Given the description of an element on the screen output the (x, y) to click on. 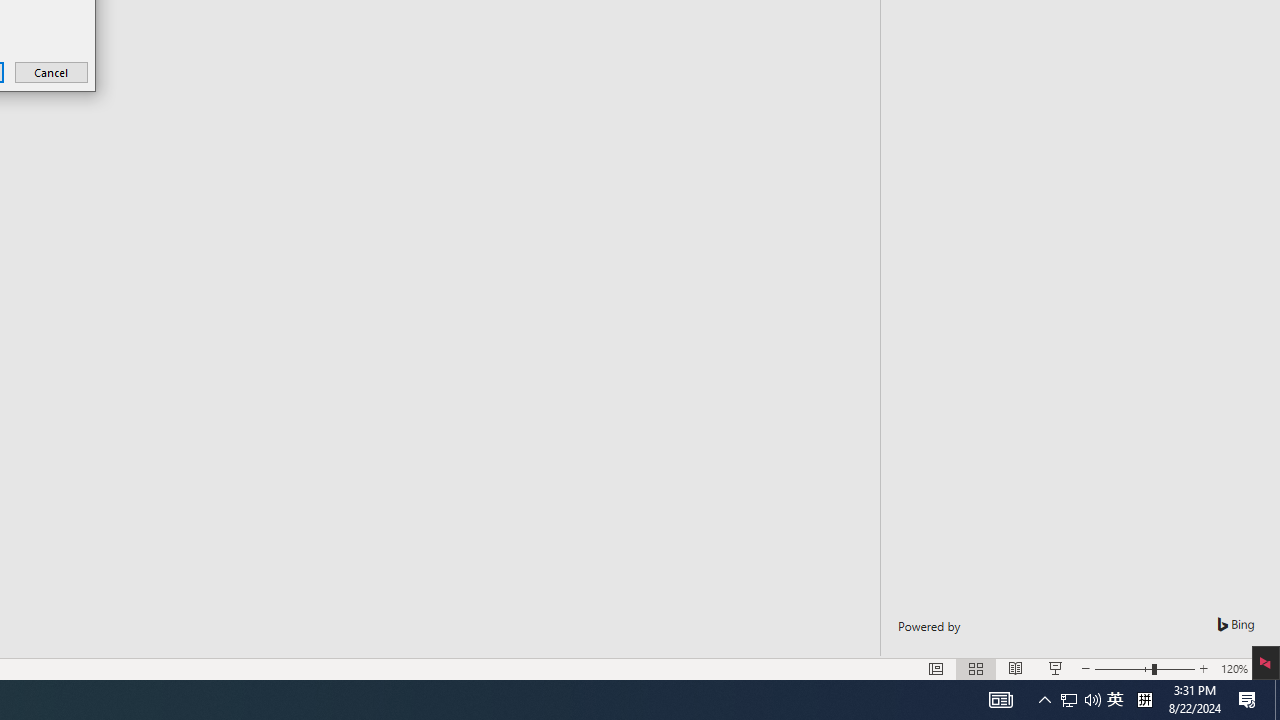
Show desktop (1277, 699)
Tray Input Indicator - Chinese (Simplified, China) (1115, 699)
Zoom 120% (1144, 699)
Q2790: 100% (1234, 668)
Action Center, 2 new notifications (1092, 699)
Notification Chevron (1069, 699)
